Given the description of an element on the screen output the (x, y) to click on. 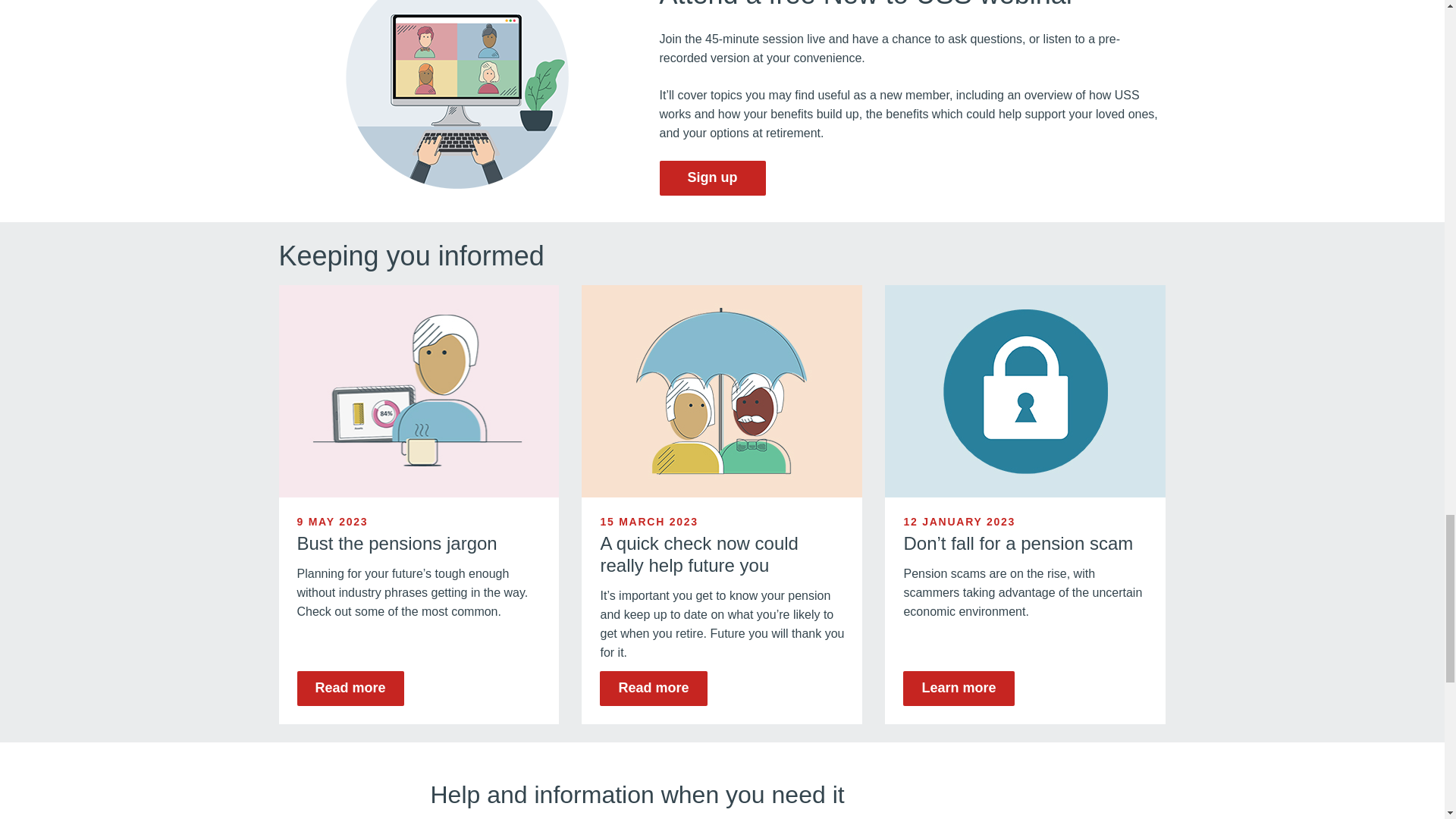
Sign up (712, 177)
Read more (652, 687)
Read more (350, 687)
Learn more (957, 687)
